Given the description of an element on the screen output the (x, y) to click on. 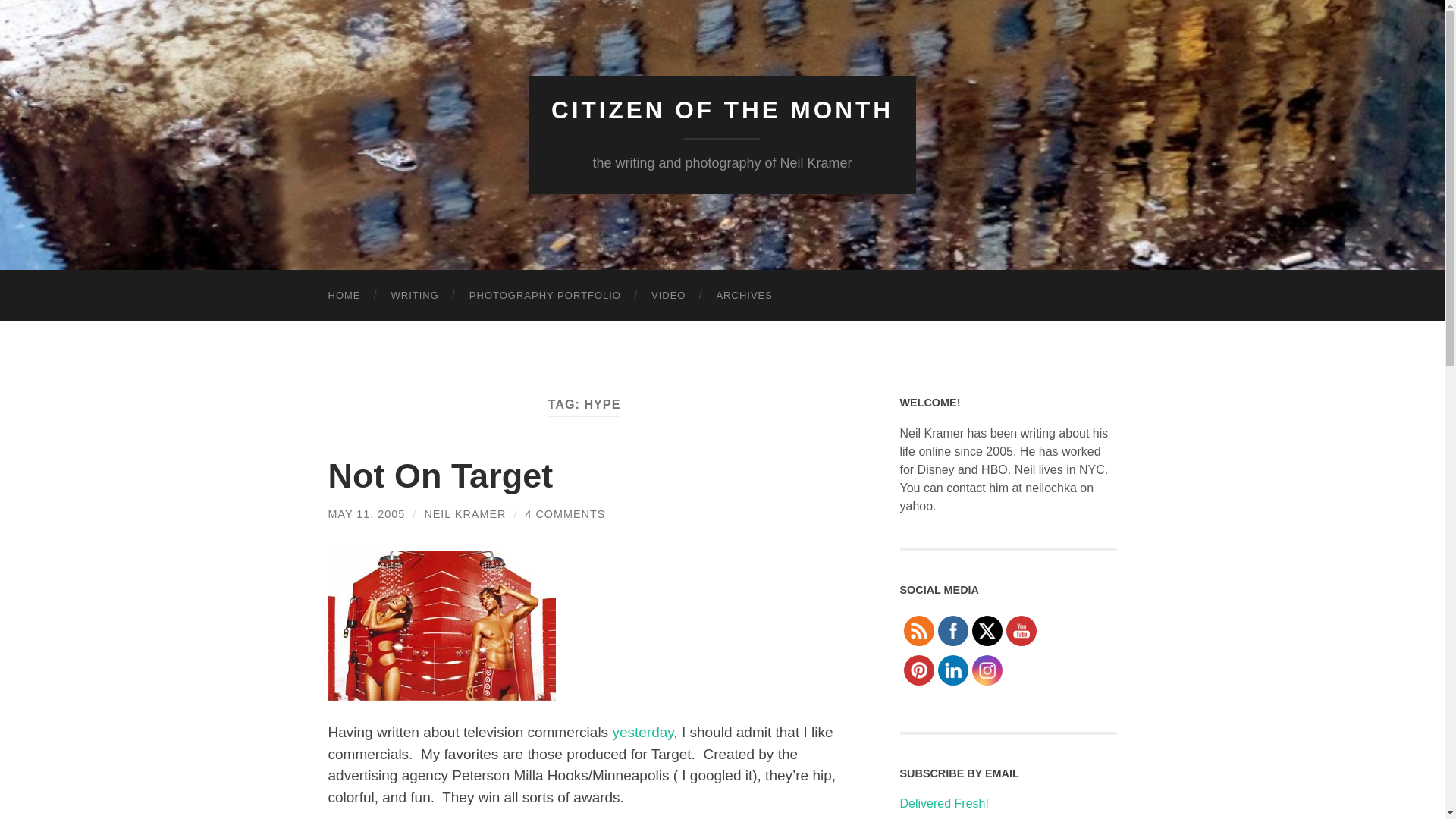
RSS (918, 630)
MAY 11, 2005 (365, 513)
Facebook (952, 630)
NEIL KRAMER (464, 513)
Best Writing (414, 295)
yesterday (641, 731)
VIDEO (668, 295)
PHOTOGRAPHY PORTFOLIO (545, 295)
HOME (344, 295)
CITIZEN OF THE MONTH (722, 109)
ARCHIVES (743, 295)
Not On Target (440, 475)
WRITING (414, 295)
4 COMMENTS (564, 513)
Delivered Fresh! (943, 802)
